Given the description of an element on the screen output the (x, y) to click on. 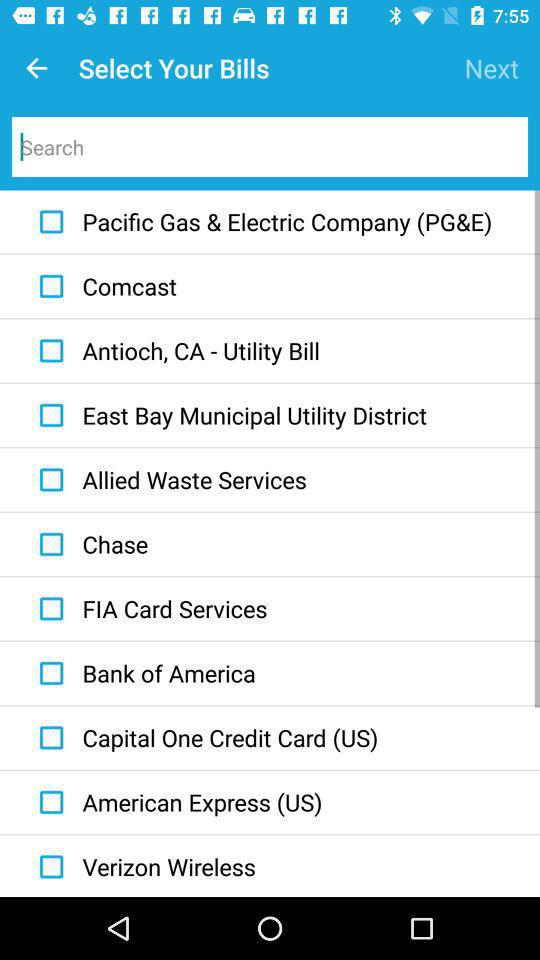
click the item to the left of the select your bills icon (36, 68)
